Given the description of an element on the screen output the (x, y) to click on. 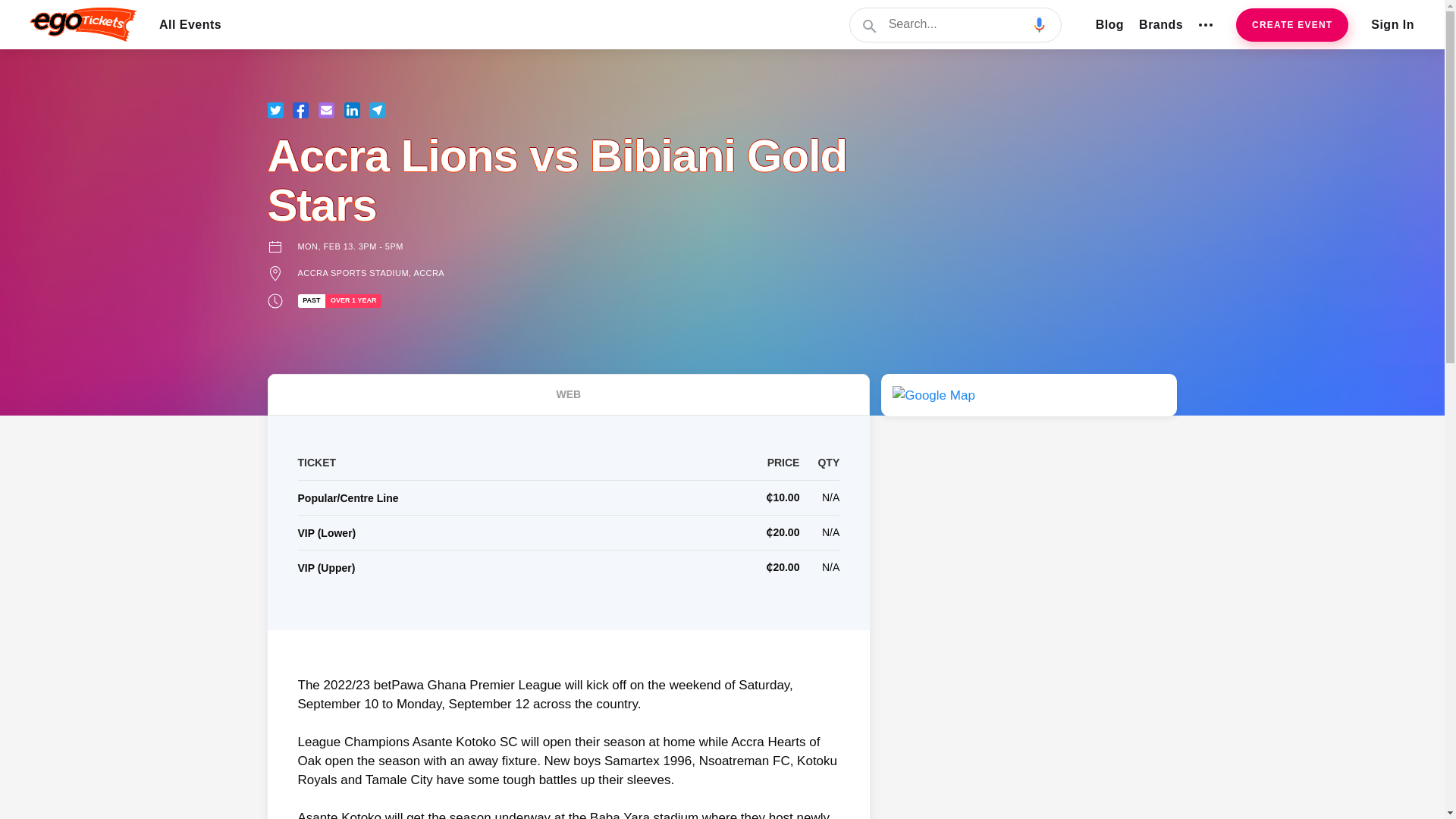
Add your event for free (1292, 23)
Share to Twitter (274, 109)
Search (956, 23)
CREATE EVENT (1292, 23)
See Location on Google Maps (933, 394)
All events (189, 24)
Share to Linkedin (351, 109)
All Events (189, 24)
Share to Email (326, 109)
Brands (1160, 24)
Share to Telegram (377, 109)
WEB (567, 394)
Share to Facebook (300, 109)
Sign In (1392, 24)
Blog (1110, 24)
